Given the description of an element on the screen output the (x, y) to click on. 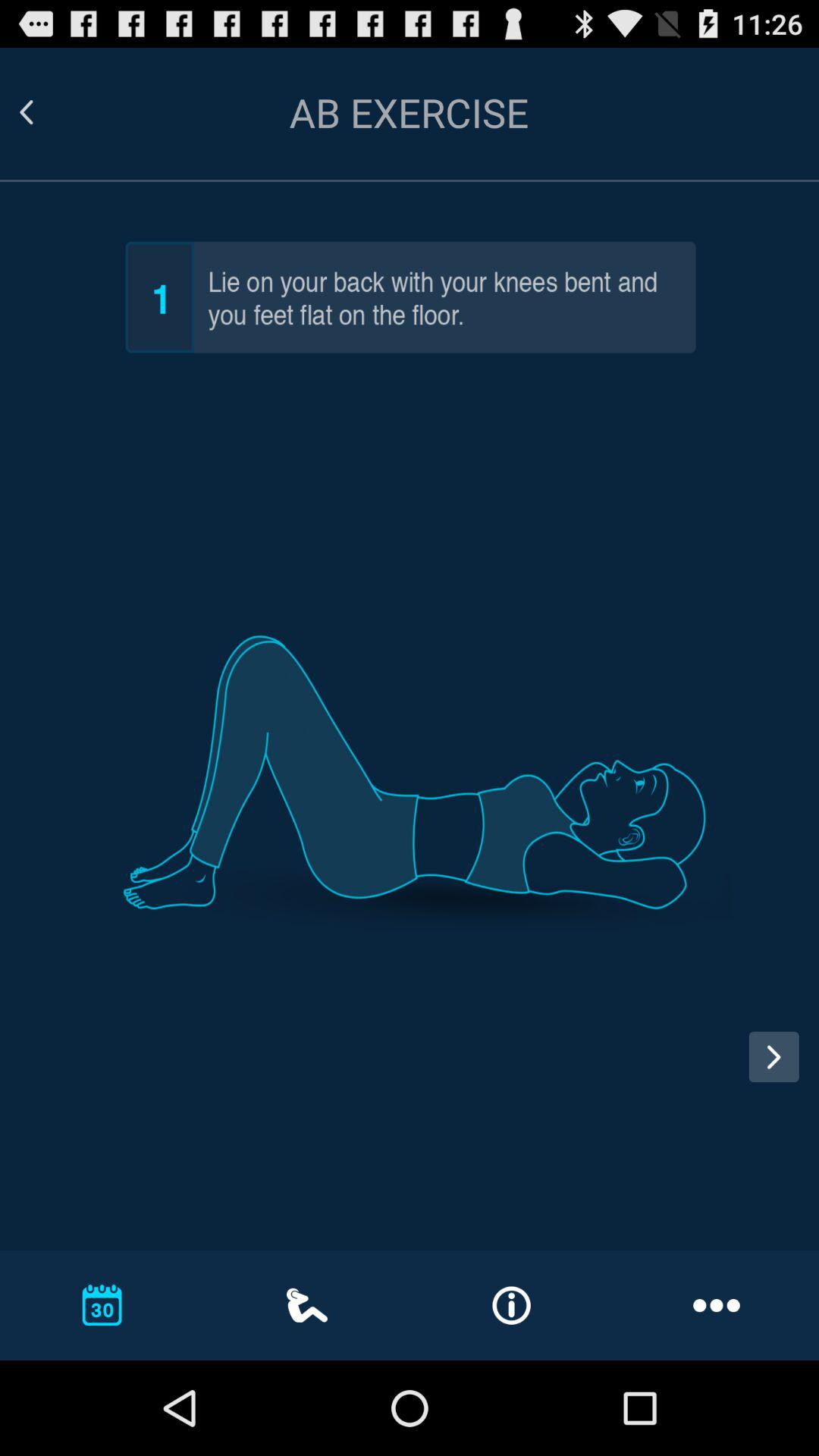
go to previous (39, 1071)
